Given the description of an element on the screen output the (x, y) to click on. 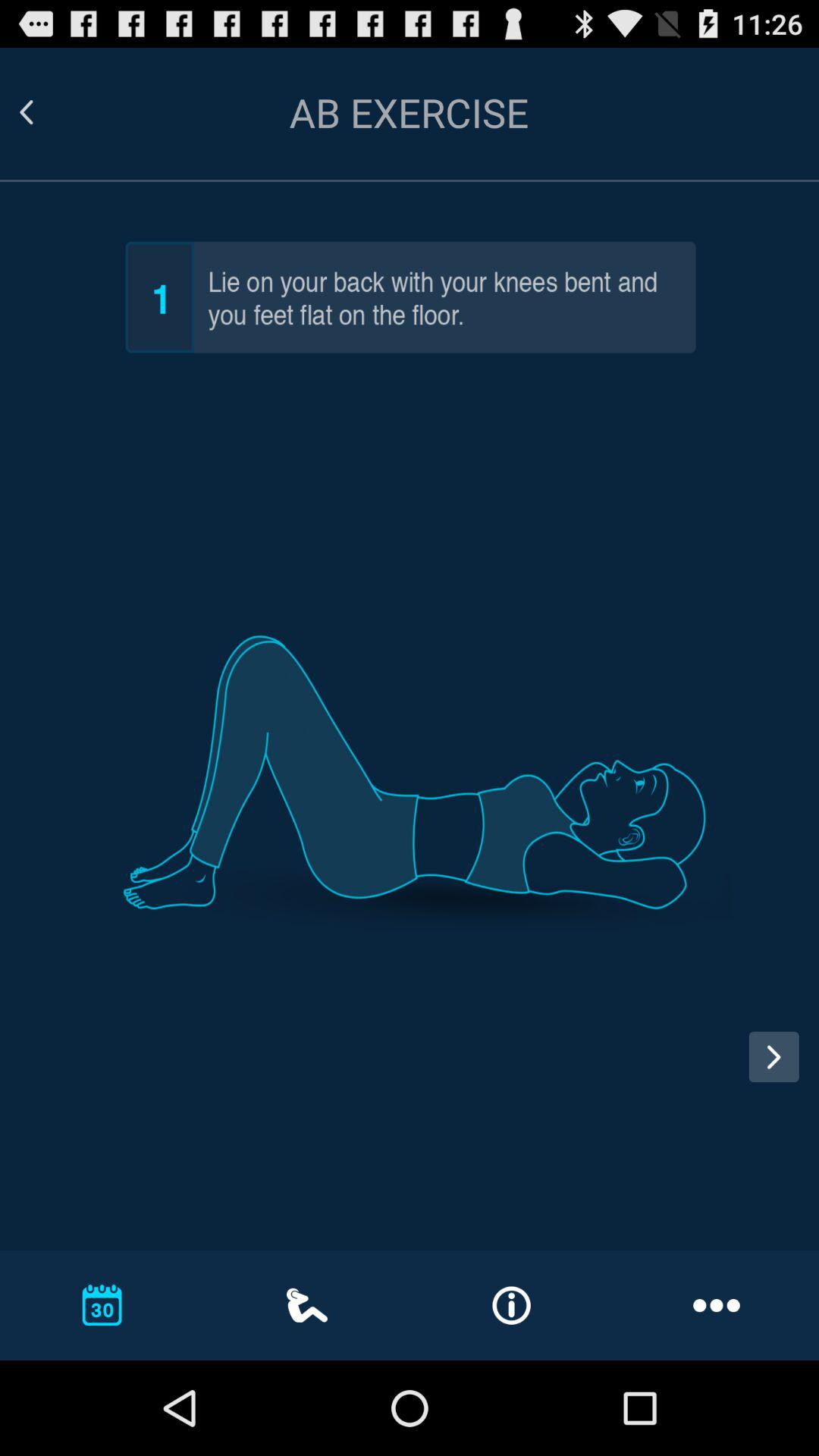
go to previous (39, 1071)
